Given the description of an element on the screen output the (x, y) to click on. 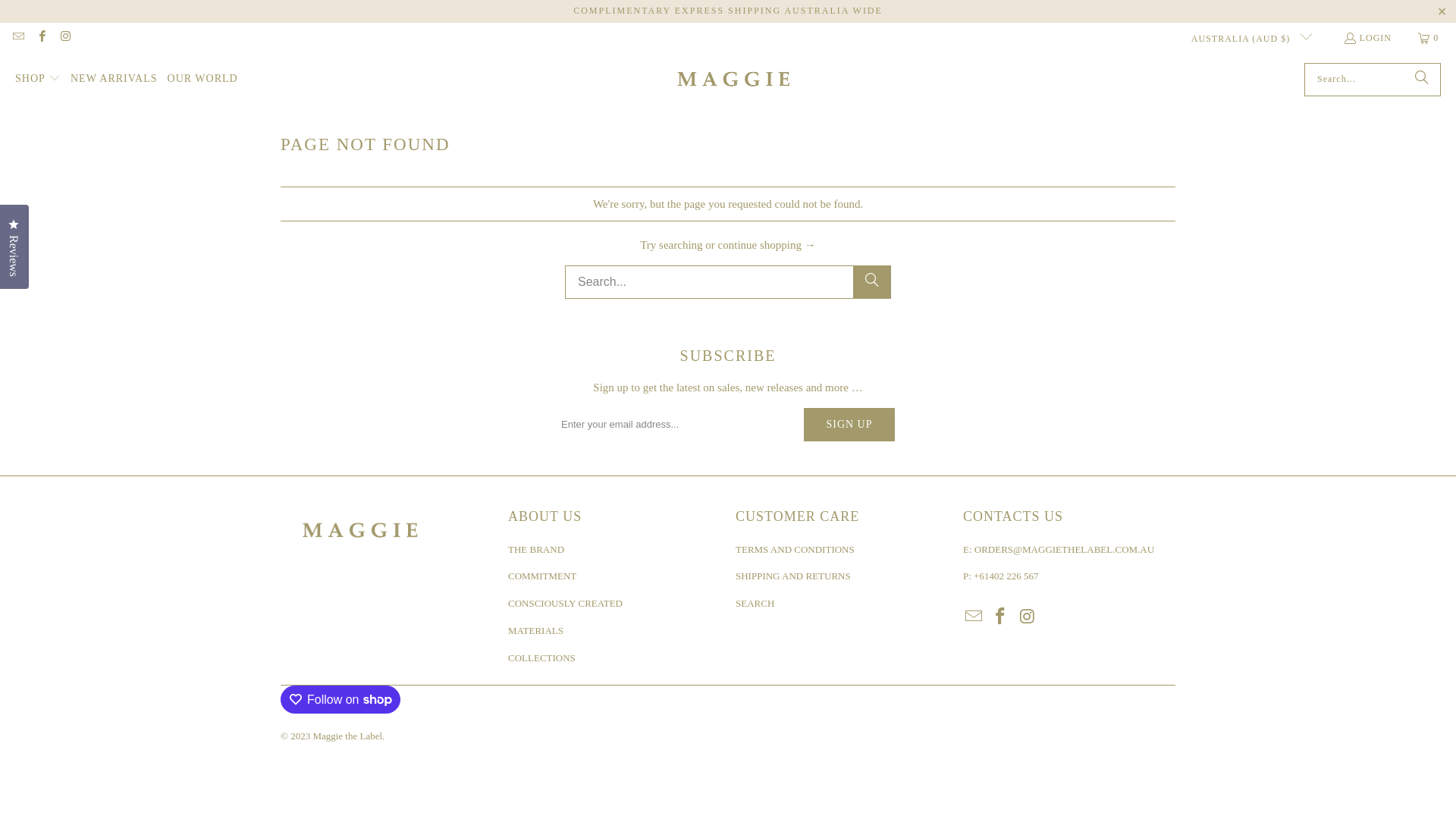
Email Maggie the Label Element type: hover (974, 617)
Sign Up Element type: text (848, 424)
OUR WORLD Element type: text (202, 78)
MATERIALS Element type: text (535, 630)
TERMS AND CONDITIONS Element type: text (794, 548)
Maggie the Label on Instagram Element type: hover (1027, 617)
Maggie the Label Element type: text (347, 735)
COMMITMENT Element type: text (542, 575)
Maggie the Label on Facebook Element type: hover (1000, 617)
LOGIN Element type: text (1366, 37)
SHIPPING AND RETURNS Element type: text (792, 575)
Maggie the Label on Instagram Element type: hover (64, 37)
NEW ARRIVALS Element type: text (113, 78)
Email Maggie the Label Element type: hover (17, 37)
CONSCIOUSLY CREATED Element type: text (565, 602)
Maggie the Label Element type: hover (733, 79)
THE BRAND Element type: text (536, 548)
SEARCH Element type: text (754, 602)
Maggie the Label on Facebook Element type: hover (40, 37)
COLLECTIONS Element type: text (541, 657)
AUSTRALIA (AUD $) Element type: text (1245, 37)
